Given the description of an element on the screen output the (x, y) to click on. 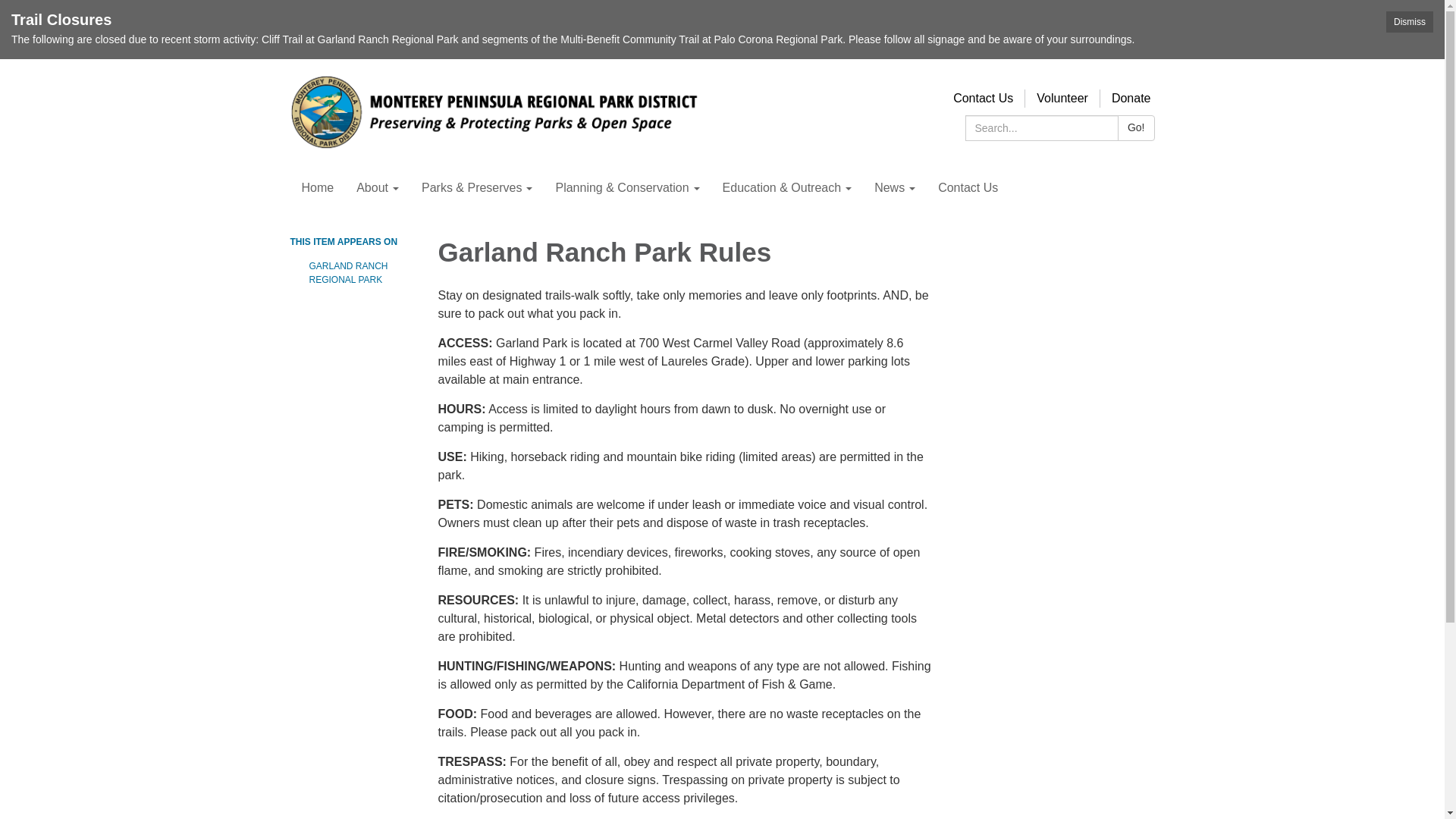
Contact Us (983, 97)
Donate (1130, 97)
Dismiss (1409, 21)
Home (317, 187)
Volunteer (1062, 97)
Go! (1136, 127)
About (377, 187)
